Given the description of an element on the screen output the (x, y) to click on. 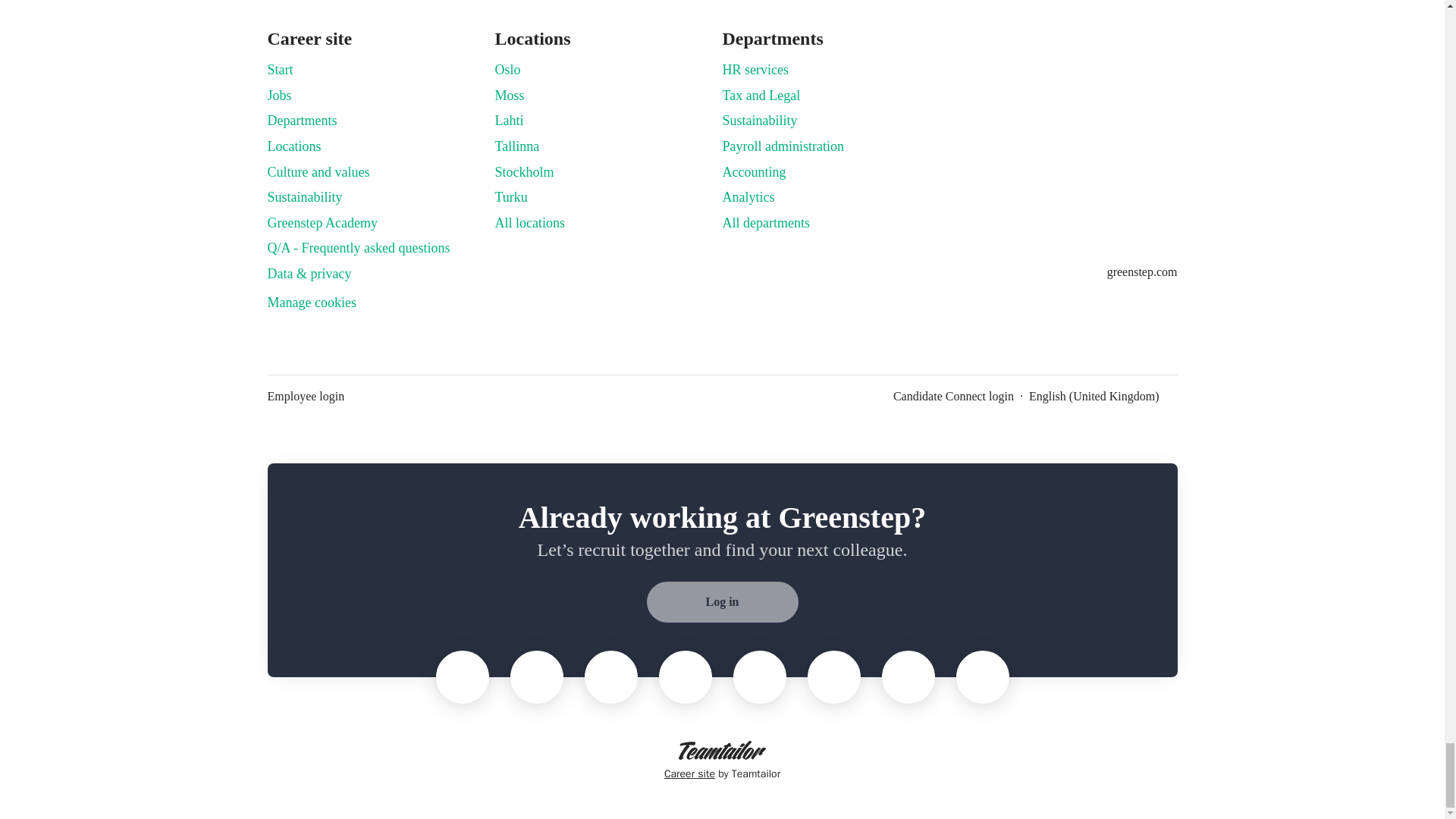
Start (279, 69)
Therese Pilspets (685, 676)
Aretta Rundgren (462, 676)
Change language (1103, 396)
Pirjo Virtanen (536, 676)
Sirpa Ontronen (610, 676)
